Given the description of an element on the screen output the (x, y) to click on. 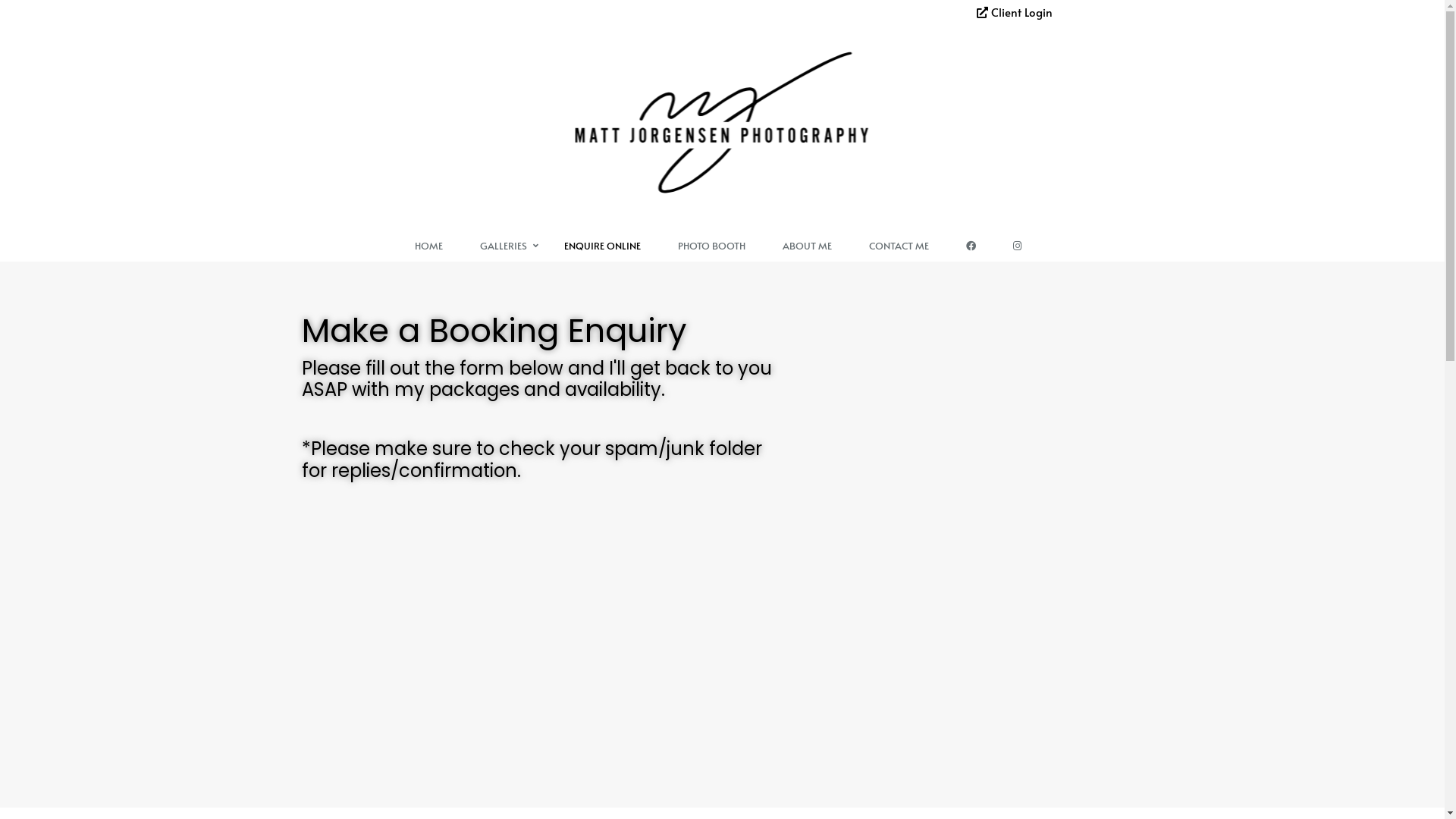
ENQUIRE ONLINE Element type: text (606, 245)
PHOTO BOOTH Element type: text (715, 245)
CONTACT ME Element type: text (902, 245)
Client Login Element type: text (1014, 12)
ABOUT ME Element type: text (810, 245)
HOME Element type: text (432, 245)
GALLERIES Element type: text (506, 245)
